Given the description of an element on the screen output the (x, y) to click on. 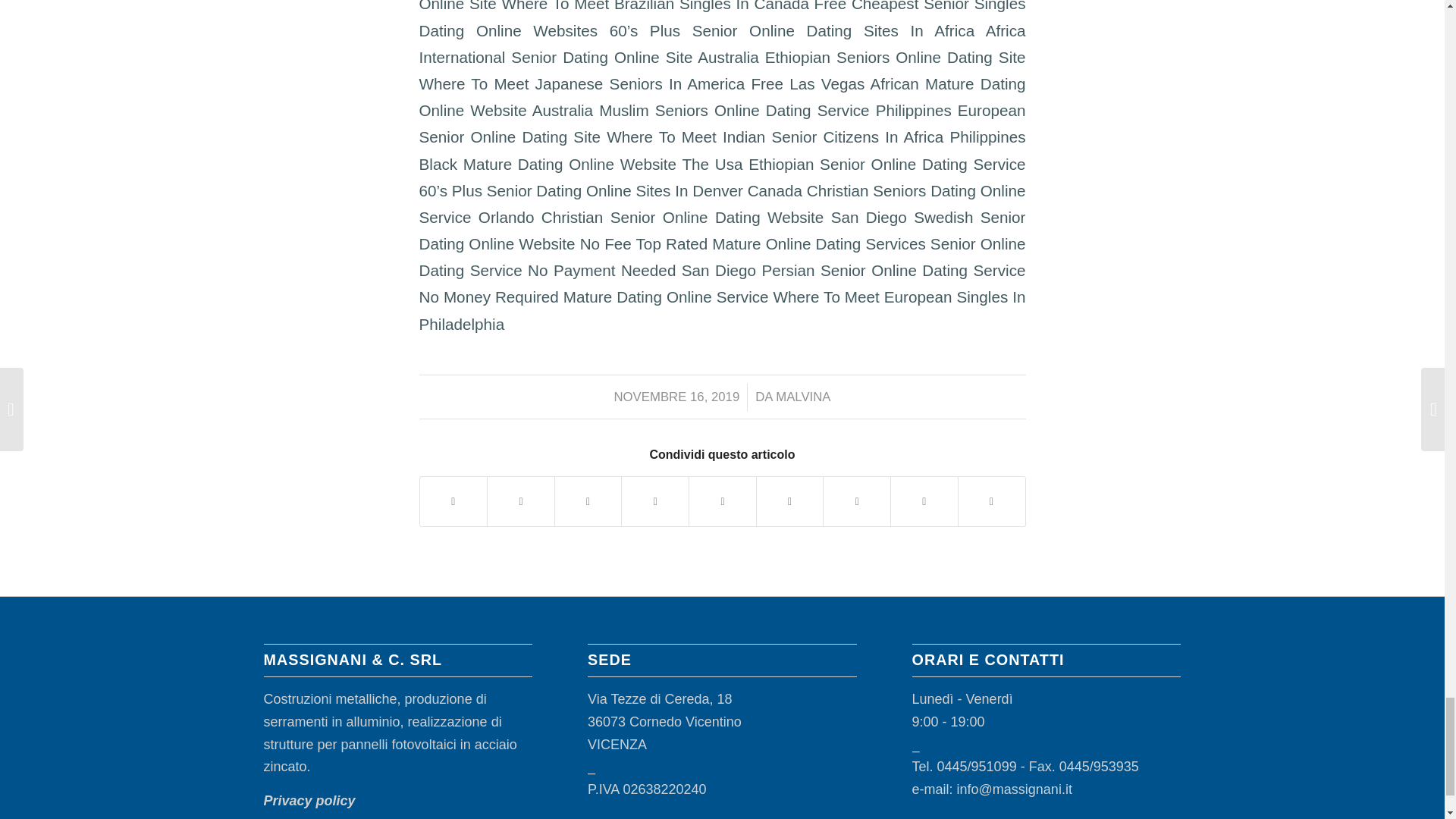
Where To Meet Indian Senior Citizens In Africa (775, 136)
Las Vegas African Mature Dating Online Website (722, 96)
San Diego Swedish Senior Dating Online Website (722, 230)
Australia Muslim Seniors Online Dating Service (700, 109)
Articoli scritti da Malvina (802, 396)
Where To Meet Brazilian Singles In Canada Free (672, 6)
Orlando Christian Senior Online Dating Website (651, 217)
Canada Christian Seniors Dating Online Service (722, 203)
Philippines Black Mature Dating Online Website (722, 149)
Cheapest Senior Singles Dating Online Websites (722, 19)
